Given the description of an element on the screen output the (x, y) to click on. 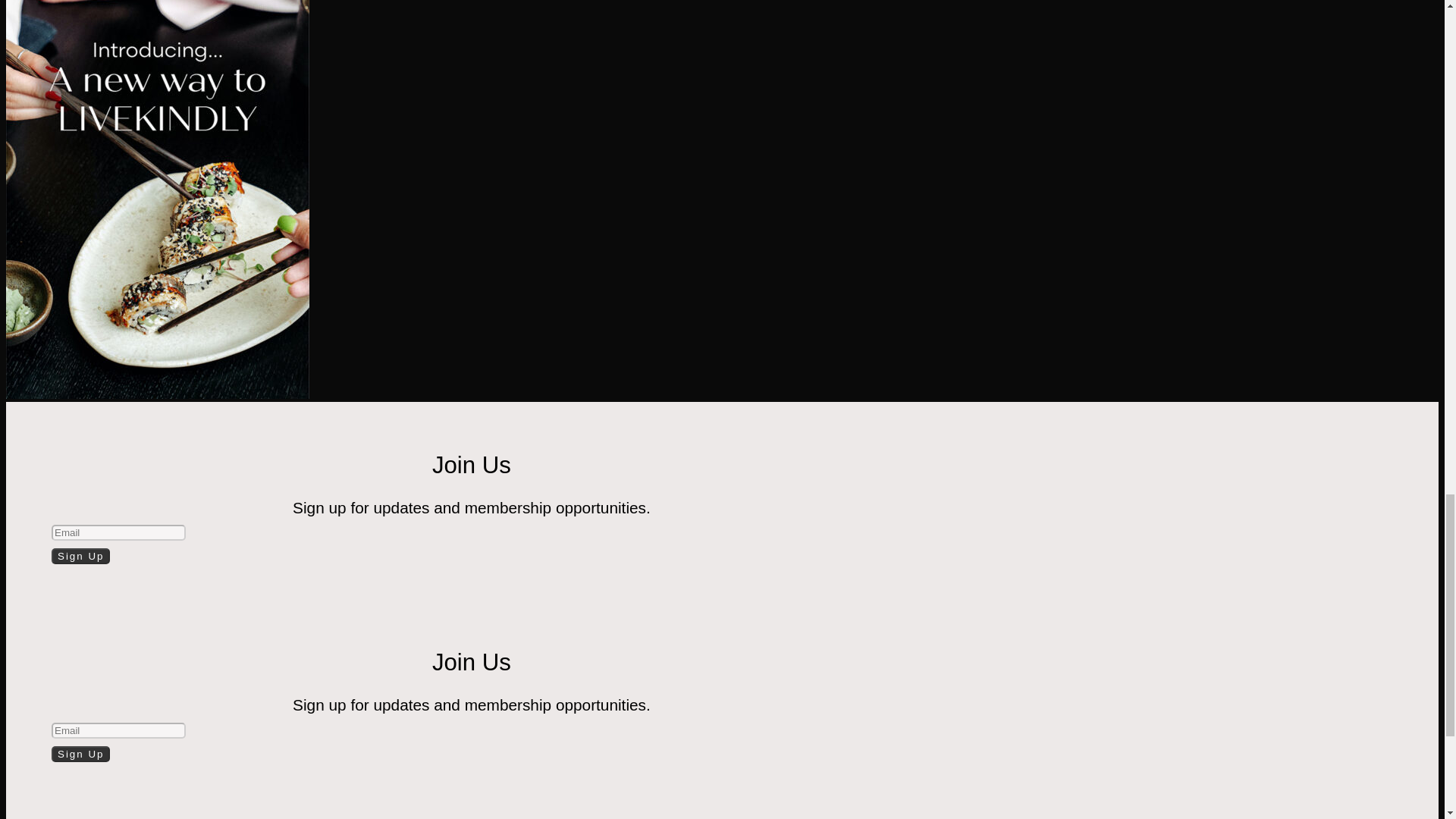
Sign Up (80, 555)
Sign Up (80, 754)
